Given the description of an element on the screen output the (x, y) to click on. 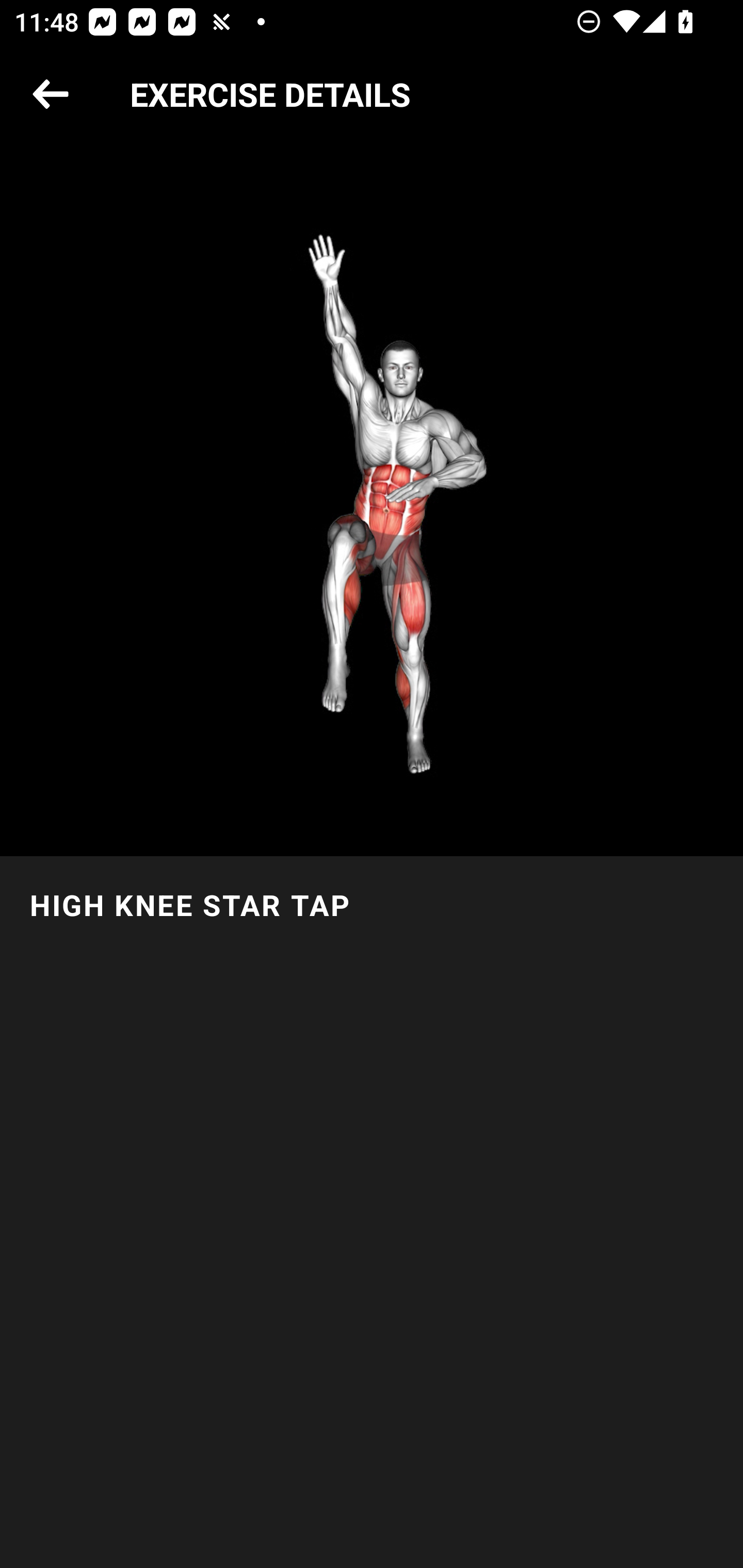
Back Icon (50, 94)
